Given the description of an element on the screen output the (x, y) to click on. 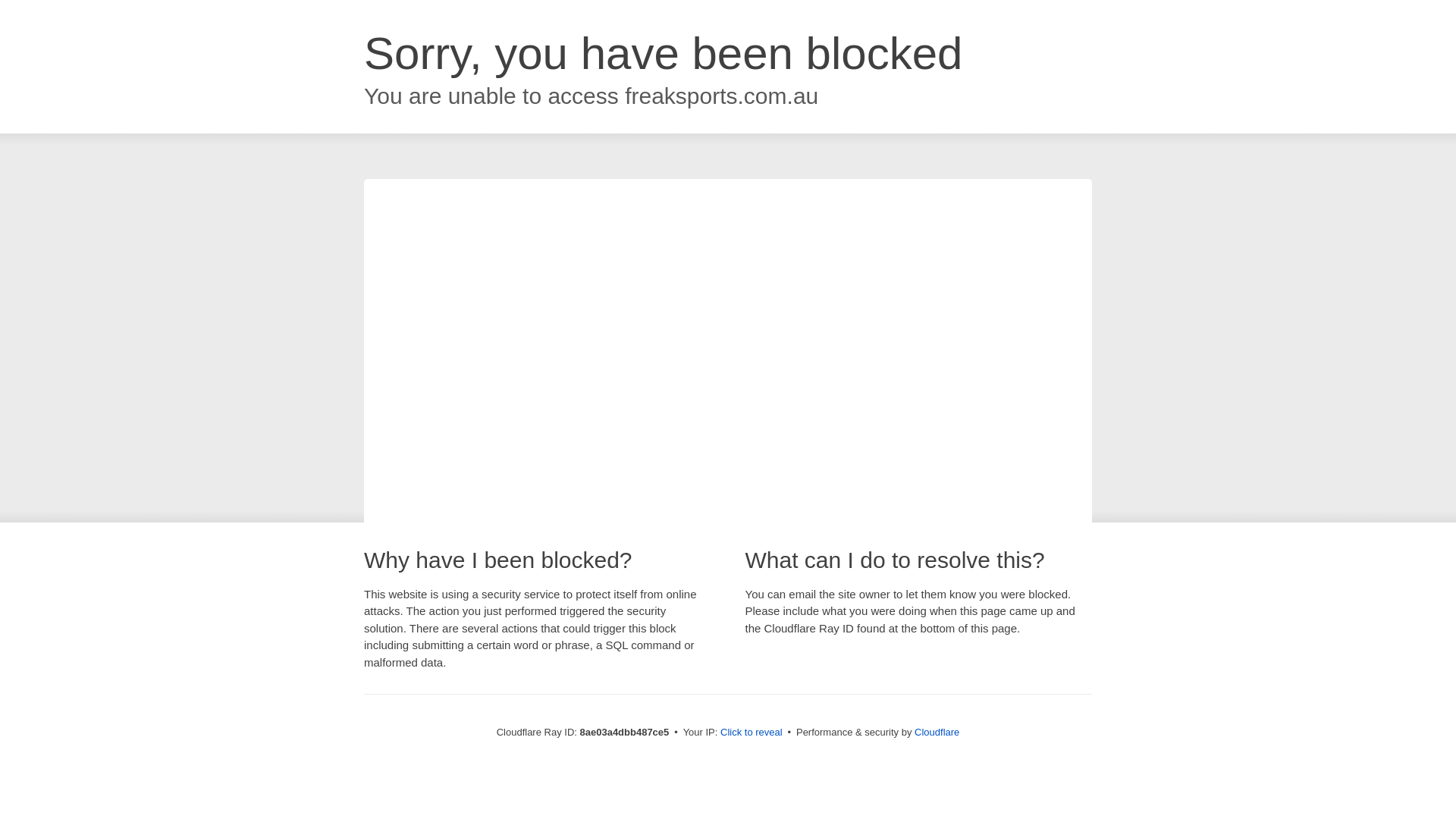
Cloudflare (936, 731)
Click to reveal (751, 732)
